Given the description of an element on the screen output the (x, y) to click on. 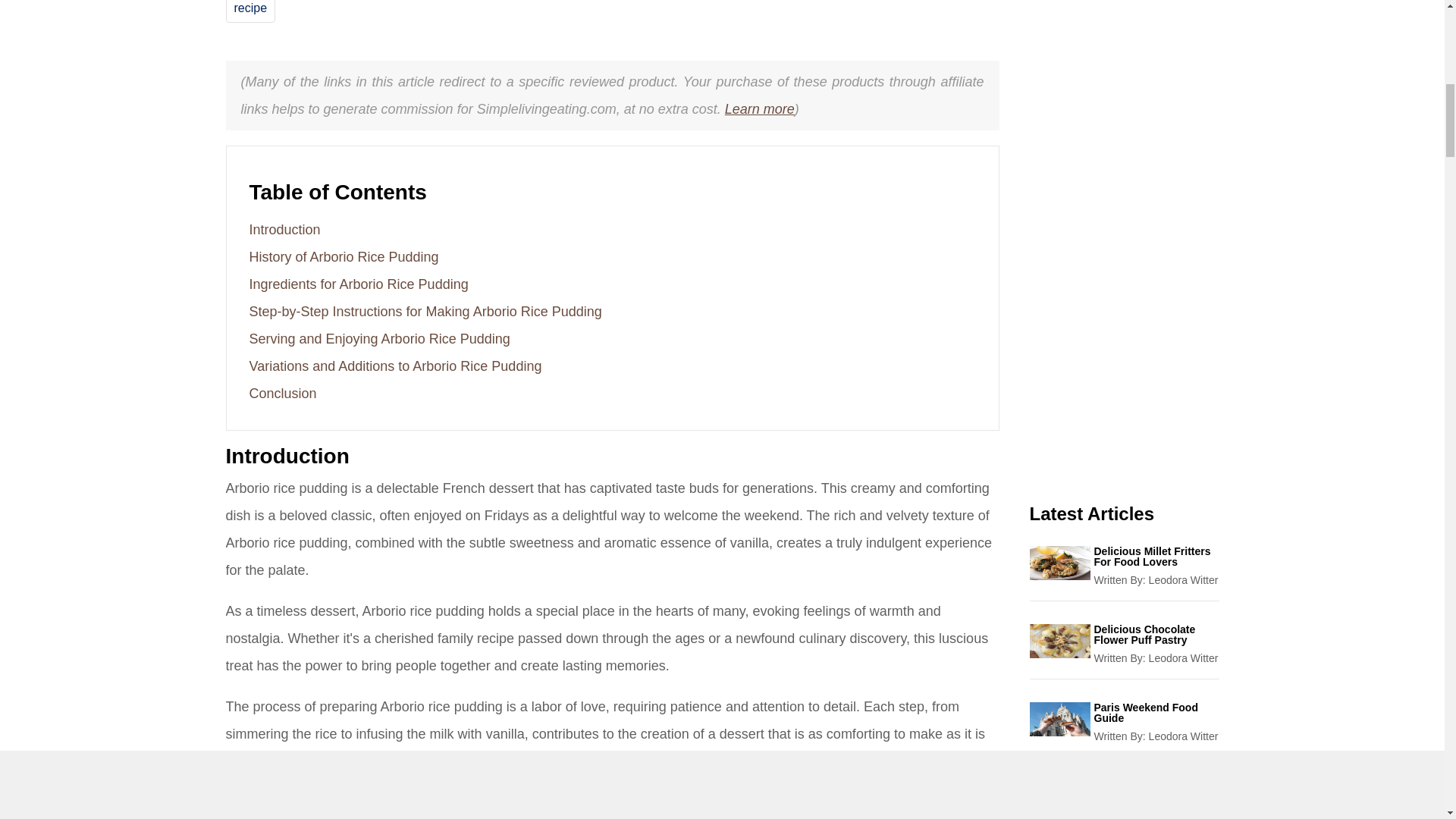
Delicious Millet Fritters For Food Lovers (1155, 556)
Learn more (759, 109)
Introduction (284, 229)
Variations and Additions to Arborio Rice Pudding (394, 365)
History of Arborio Rice Pudding (343, 256)
recipe (249, 7)
Delicious Chocolate Flower Puff Pastry (1155, 634)
Ingredients for Arborio Rice Pudding (357, 283)
Conclusion (281, 393)
Step-by-Step Instructions for Making Arborio Rice Pudding (424, 311)
